Given the description of an element on the screen output the (x, y) to click on. 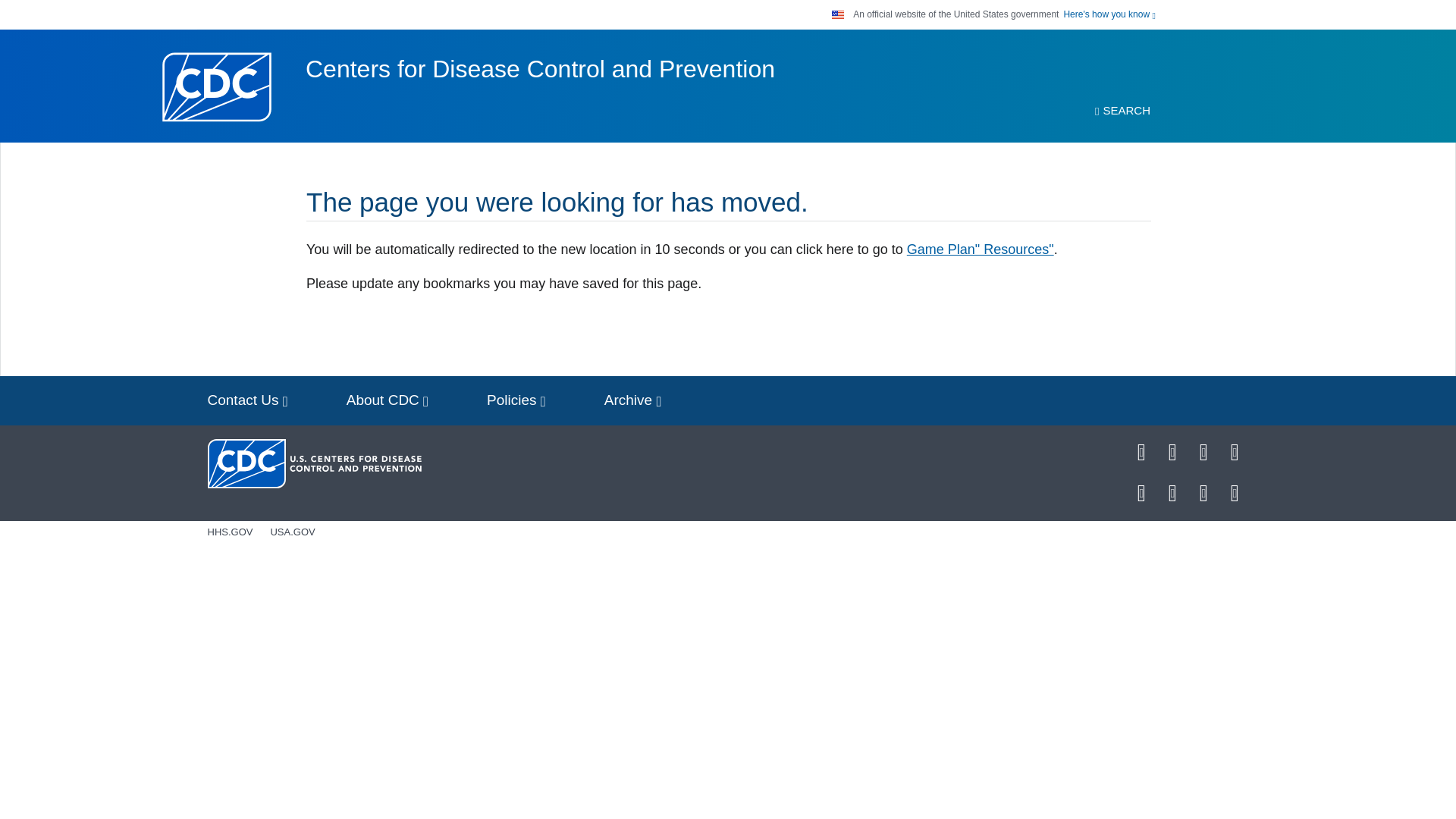
Archive (633, 400)
Here's how you know (1108, 14)
Centers for Disease Control and Prevention (539, 68)
Game Plan" Resources" (980, 249)
About CDC (387, 400)
Contact Us (247, 400)
Policies (516, 400)
SEARCH (1122, 110)
